Given the description of an element on the screen output the (x, y) to click on. 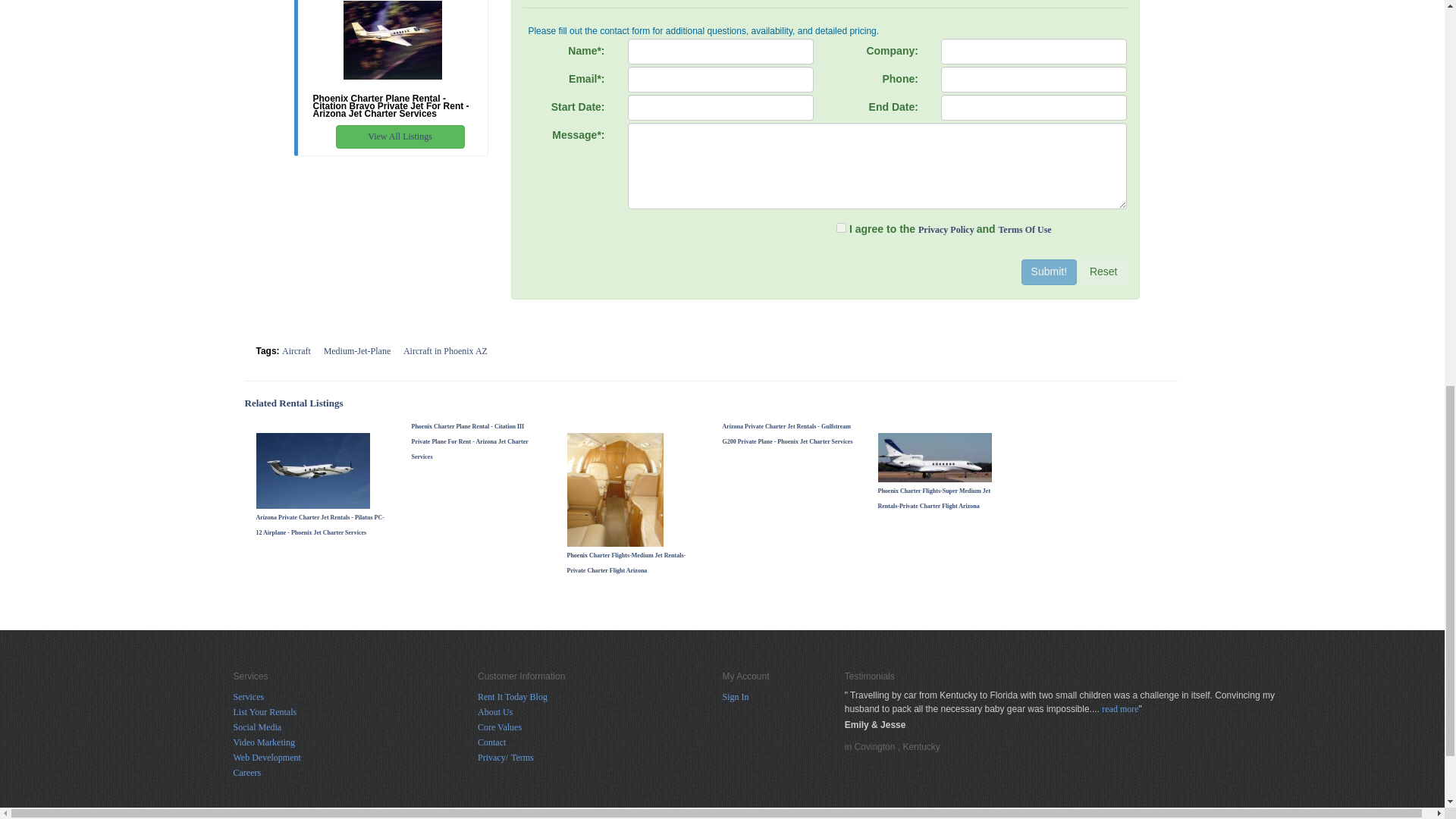
Submit! (1049, 272)
Reset (1103, 272)
on (840, 227)
